Given the description of an element on the screen output the (x, y) to click on. 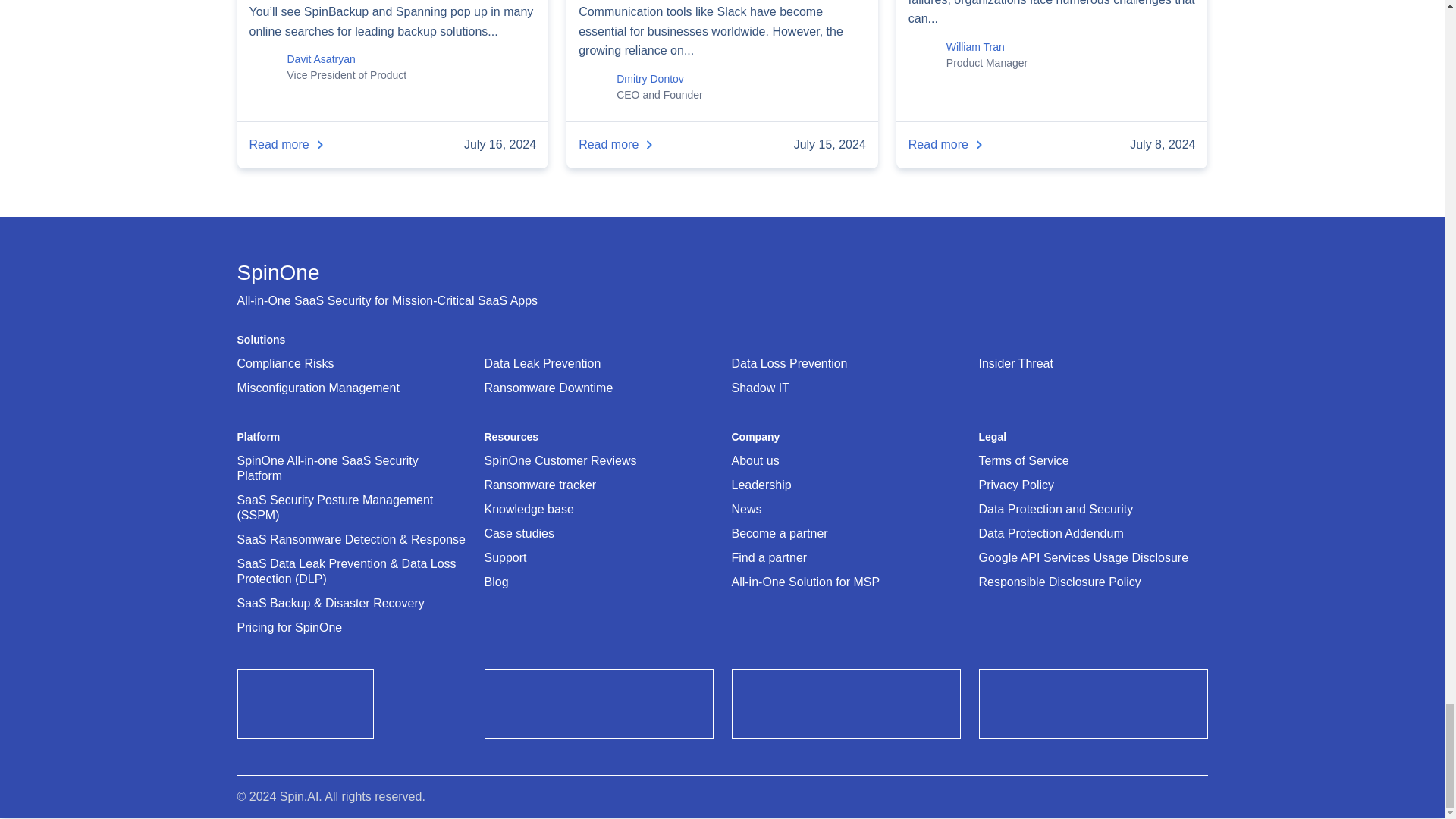
Read reviews of SpinOne on G2 (303, 734)
Posts by Dmitry Dontov (649, 78)
Posts by William Tran (975, 46)
Posts by Davit Asatryan (320, 59)
